Given the description of an element on the screen output the (x, y) to click on. 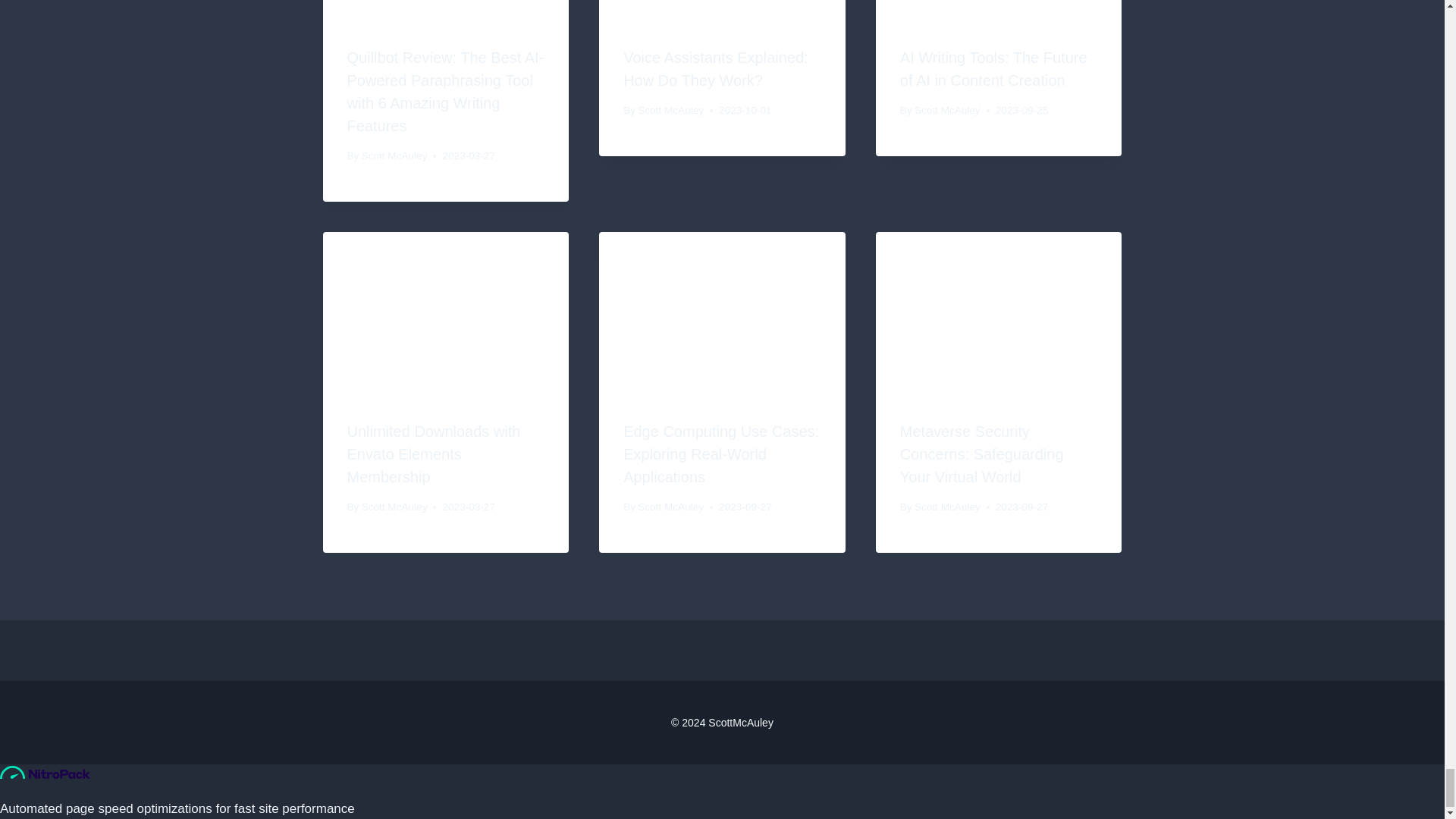
AI Writing Tools: The Future of AI in Content Creation (993, 68)
Scott McAuley (946, 110)
Scott McAuley (670, 110)
Scott McAuley (394, 155)
Voice Assistants Explained: How Do They Work? (715, 68)
